Given the description of an element on the screen output the (x, y) to click on. 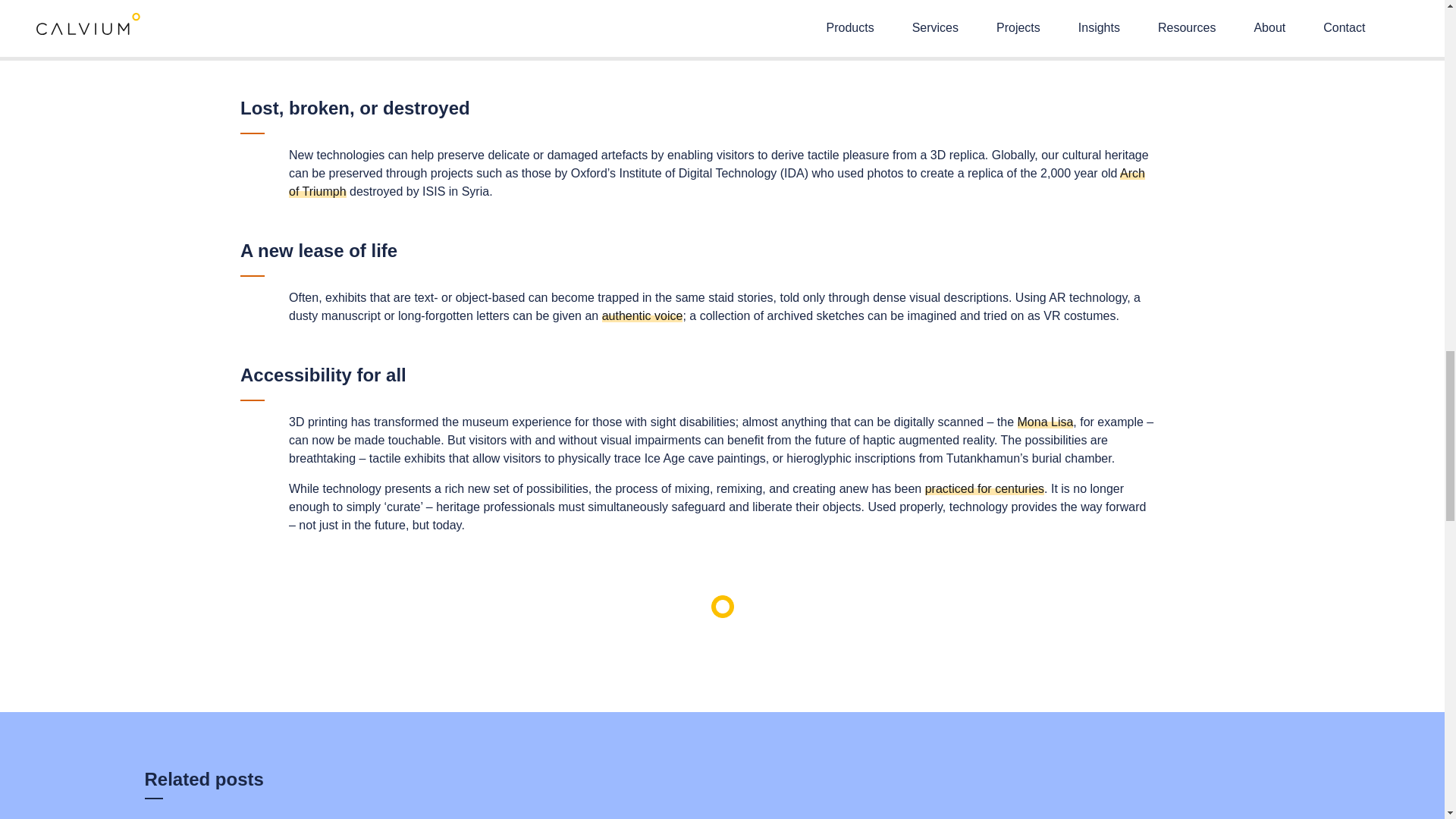
Arch of Triumph (716, 182)
authentic voice (642, 315)
Mona Lisa (1045, 421)
The Lost Palace (727, 30)
practiced for centuries (983, 488)
